Given the description of an element on the screen output the (x, y) to click on. 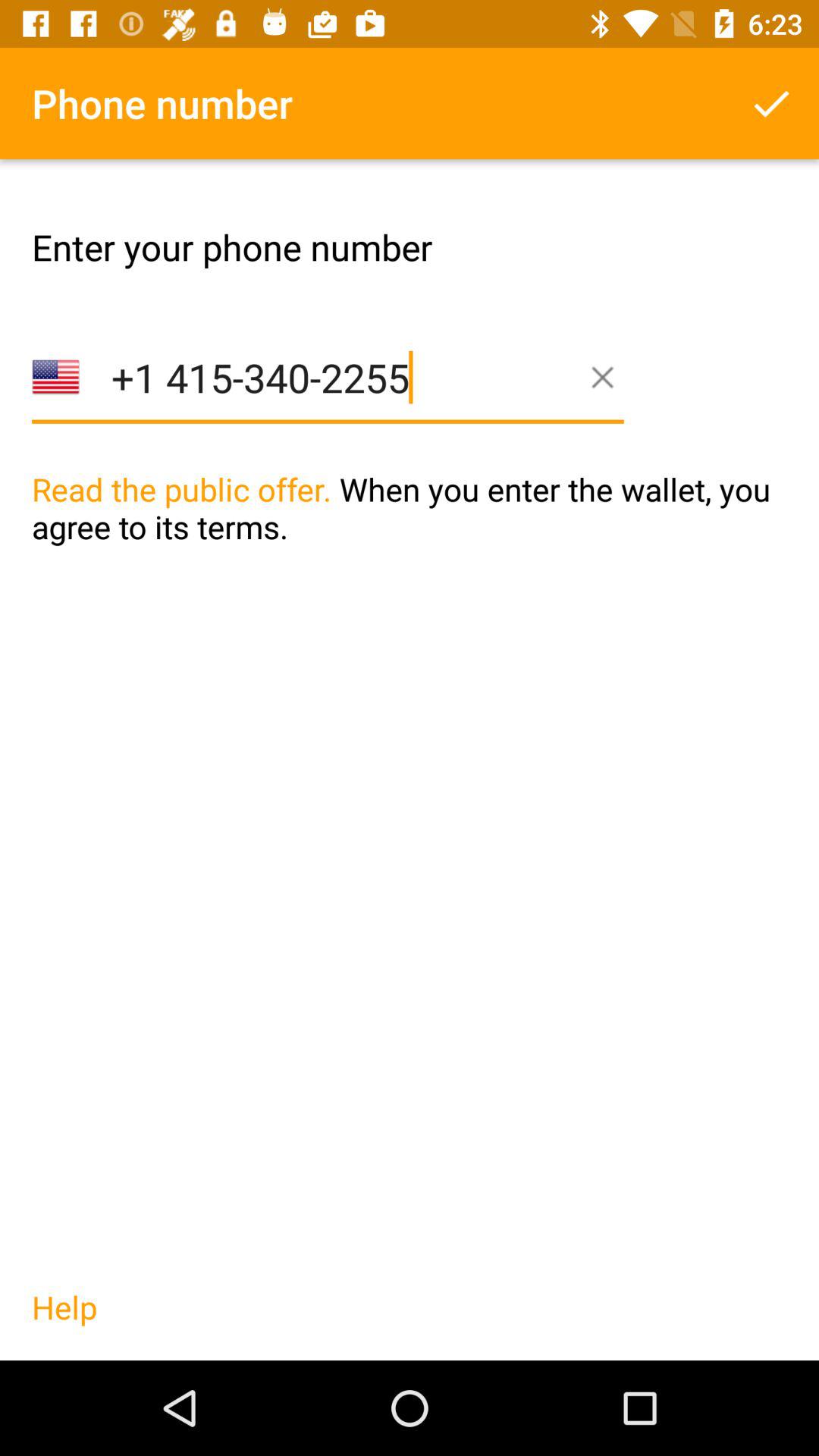
turn off the item above the read the public icon (771, 103)
